Given the description of an element on the screen output the (x, y) to click on. 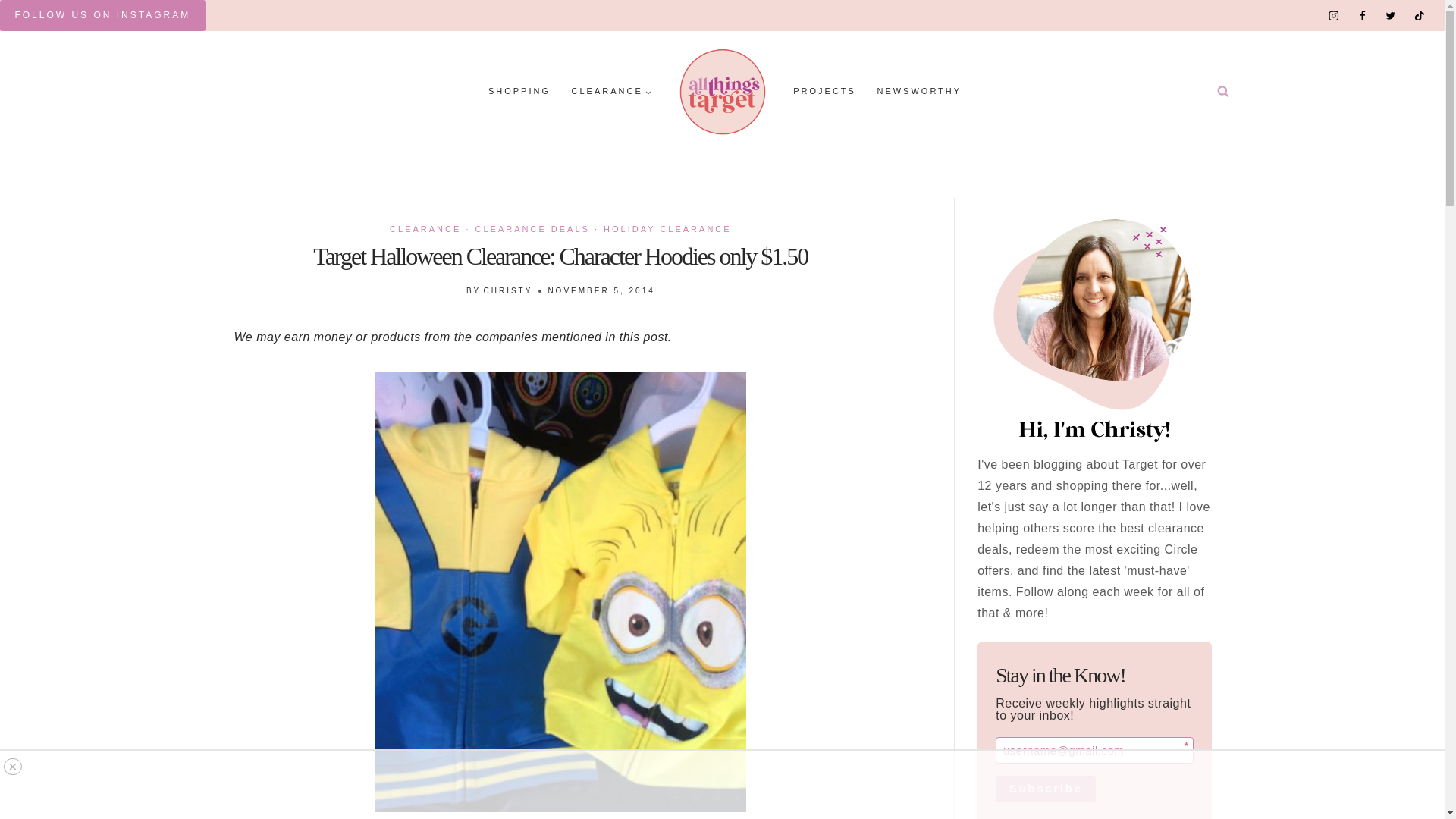
HOLIDAY CLEARANCE (668, 228)
PROJECTS (824, 92)
NEWSWORTHY (919, 92)
CHRISTY (507, 290)
CLEARANCE (425, 228)
CLEARANCE (611, 92)
SHOPPING (518, 92)
CLEARANCE DEALS (531, 228)
FOLLOW US ON INSTAGRAM (102, 15)
